Given the description of an element on the screen output the (x, y) to click on. 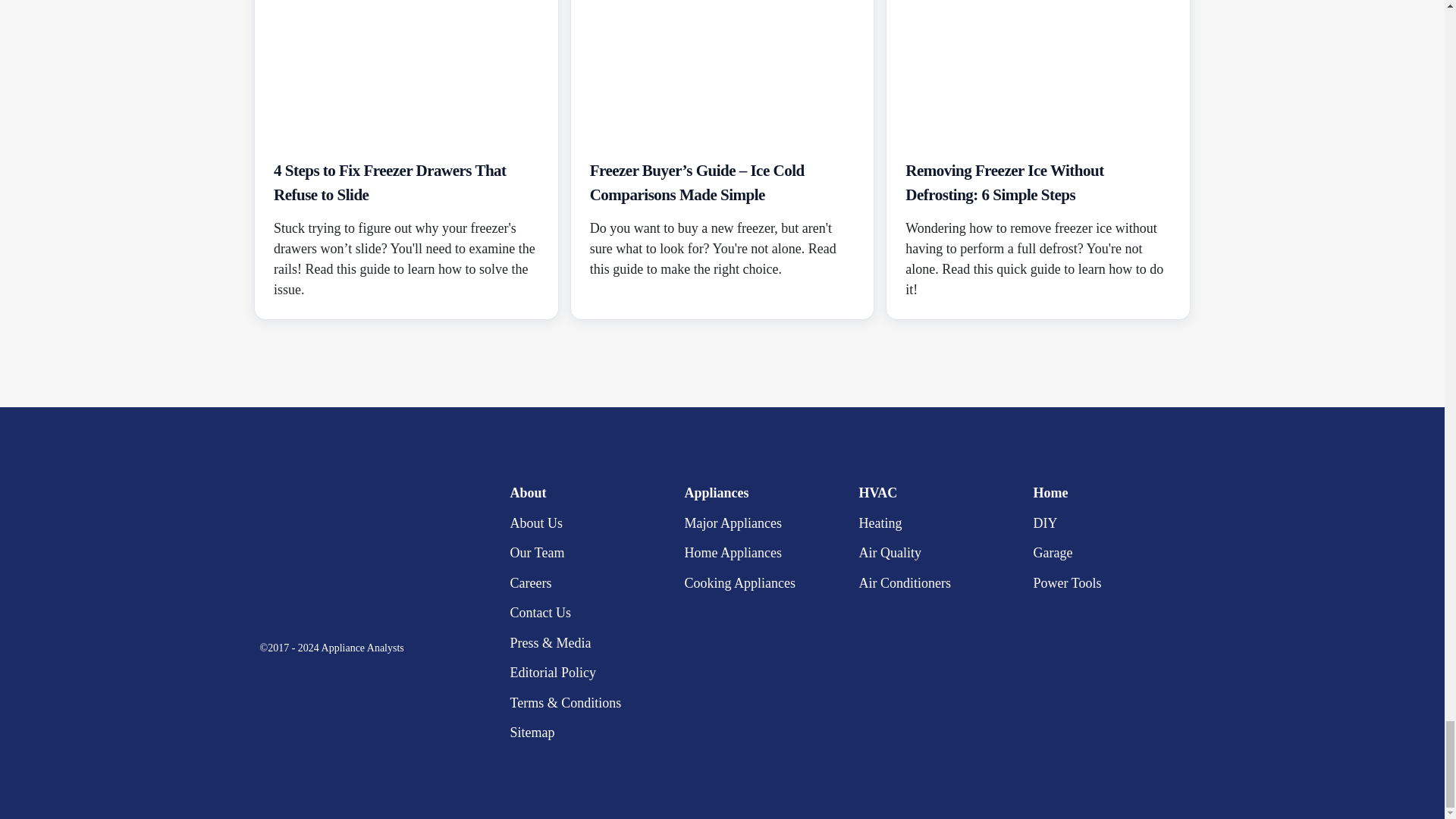
Appliance Analysts (353, 552)
